Given the description of an element on the screen output the (x, y) to click on. 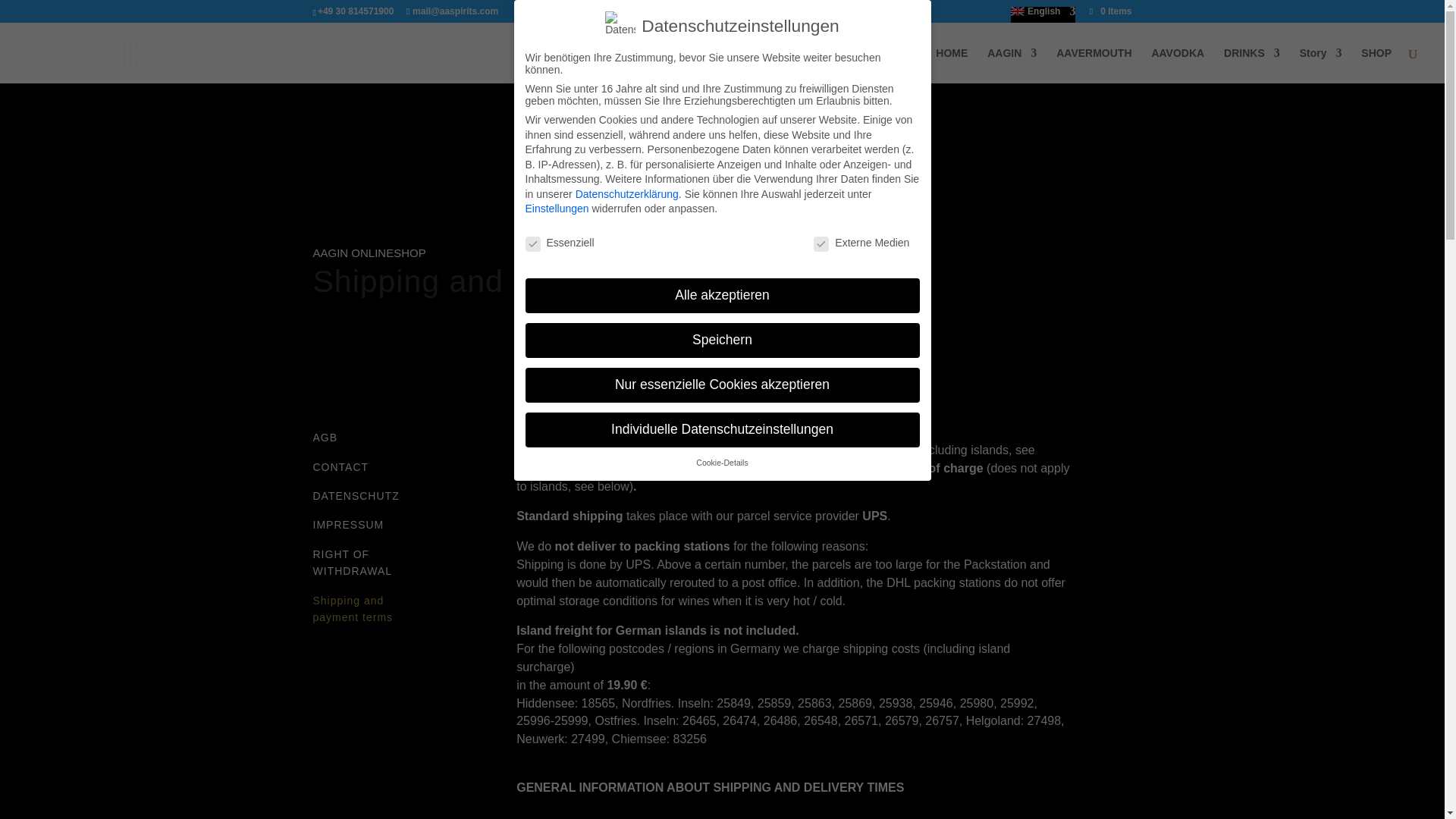
0 Items (1108, 10)
SHOP (1376, 65)
AAGIN (1011, 65)
English (1042, 14)
AAVERMOUTH (1094, 65)
Story (1321, 65)
English (1042, 14)
HOME (952, 65)
AAVODKA (1177, 65)
DRINKS (1251, 65)
